Given the description of an element on the screen output the (x, y) to click on. 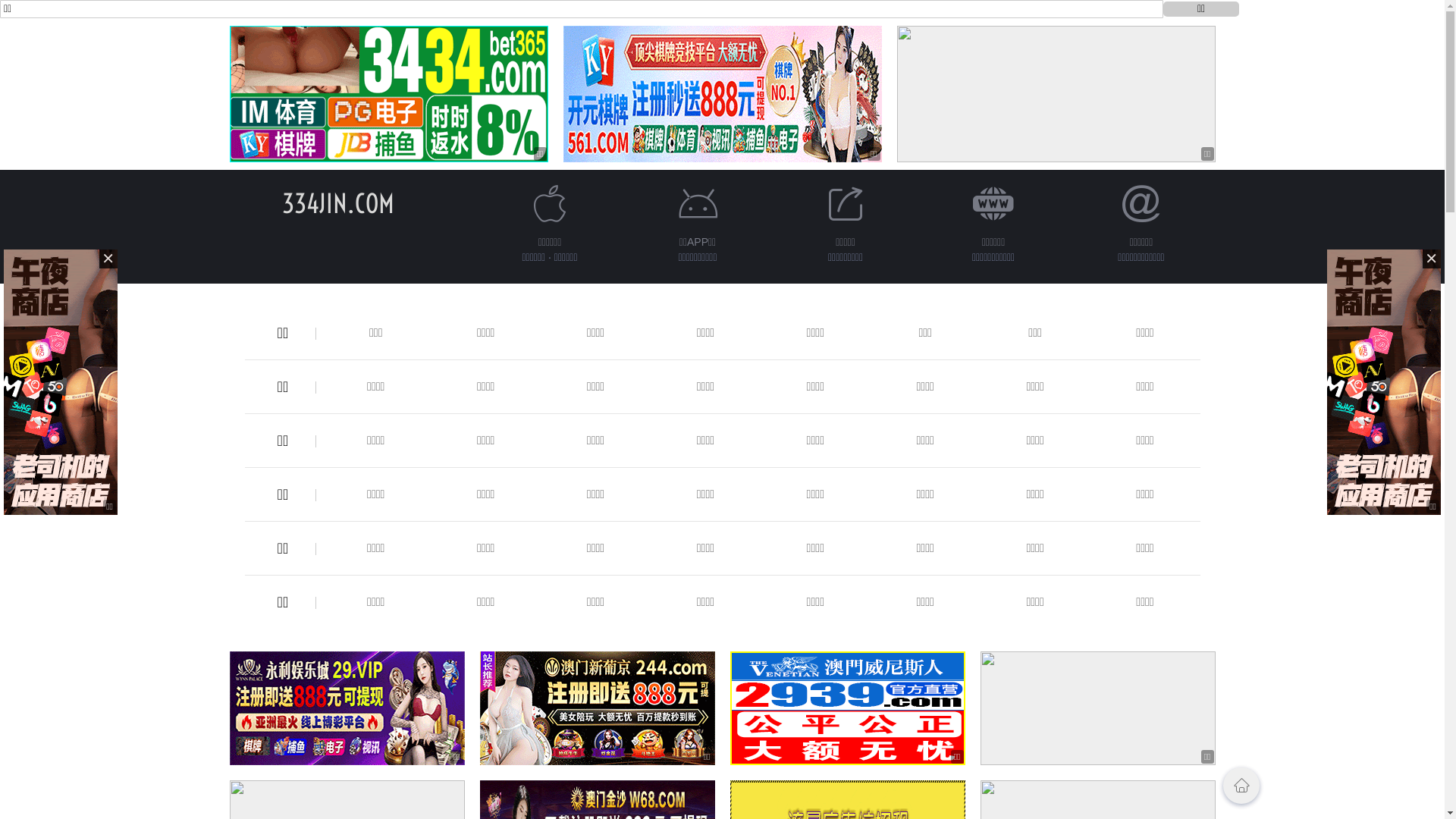
334JIN.COM Element type: text (338, 203)
